Given the description of an element on the screen output the (x, y) to click on. 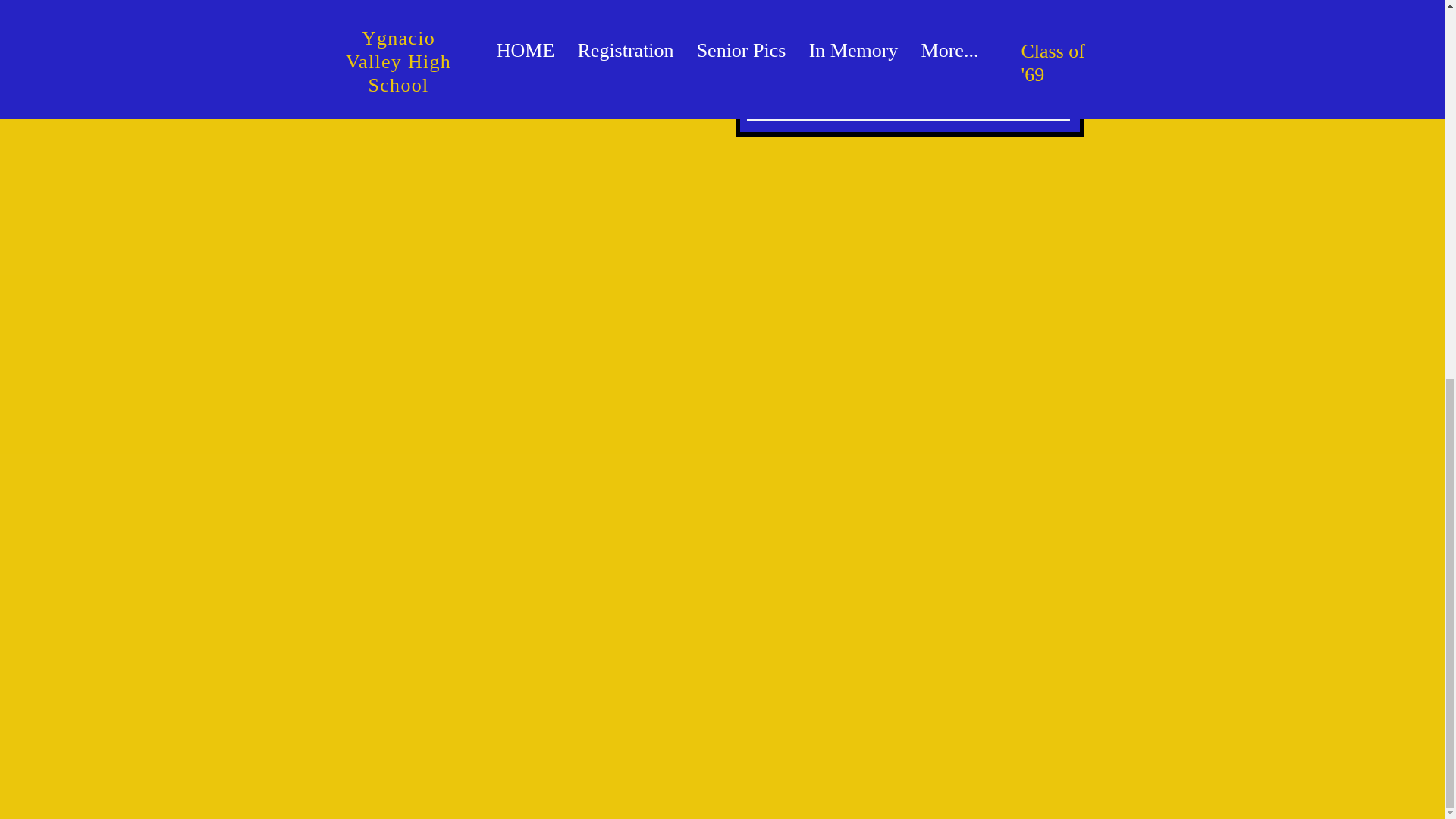
Sean (464, 69)
Chris (565, 69)
Yvonne Budd (462, 57)
Natalie Rizen (512, 81)
Alexi Murphy (499, 63)
Andrea Rizen (517, 69)
